Given the description of an element on the screen output the (x, y) to click on. 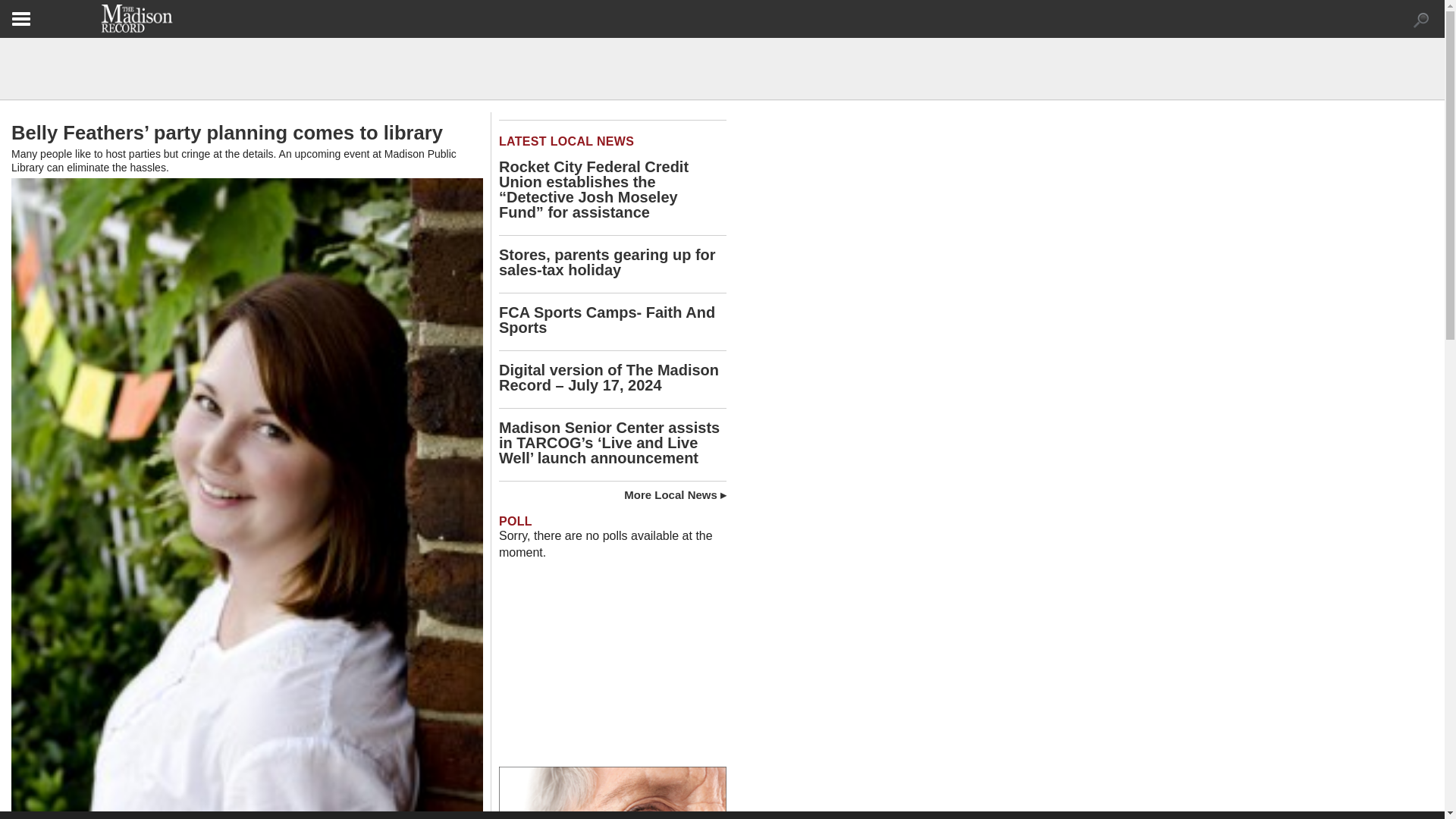
FCA Sports Camps- Faith And Sports (606, 319)
Stores, parents gearing up for sales-tax holiday (607, 262)
More Local News (675, 494)
expand (1420, 20)
Stores, parents gearing up for sales-tax holiday (607, 262)
3rd party ad content (612, 671)
FCA Sports Camps- Faith And Sports (606, 319)
